Given the description of an element on the screen output the (x, y) to click on. 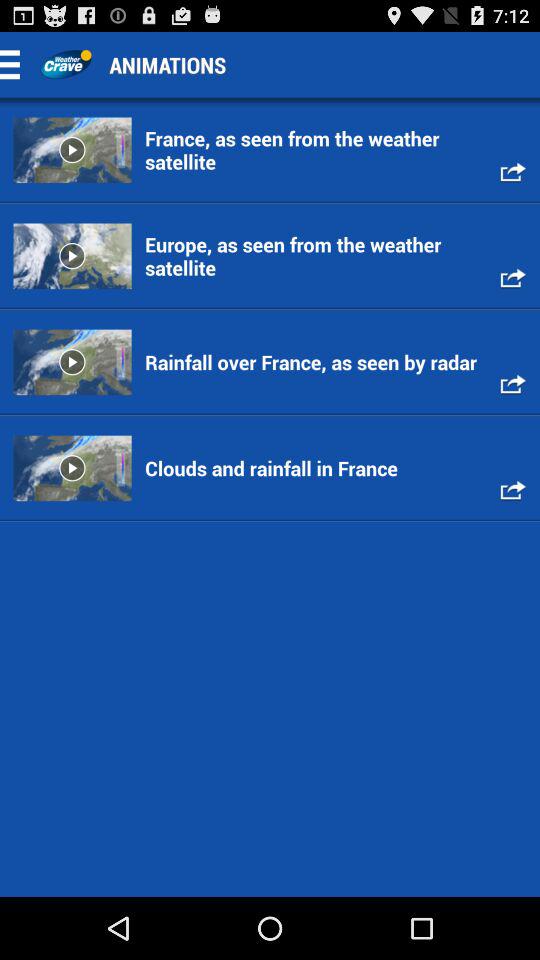
settings (16, 63)
